Given the description of an element on the screen output the (x, y) to click on. 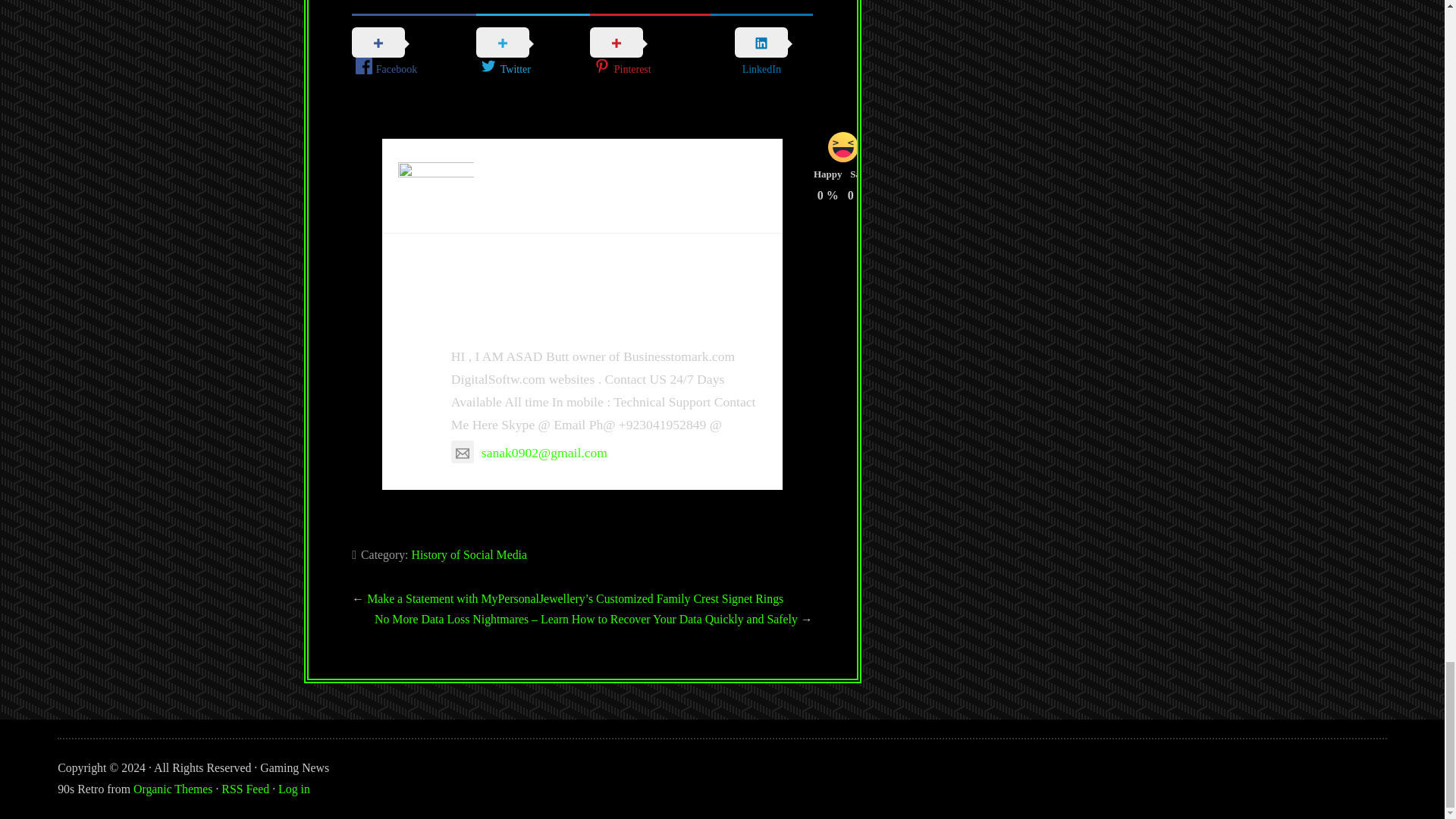
History of Social Media (468, 554)
Pinterest (649, 53)
LinkedIn (761, 52)
asad butt (500, 320)
Facebook (414, 53)
Twitter (532, 53)
